Given the description of an element on the screen output the (x, y) to click on. 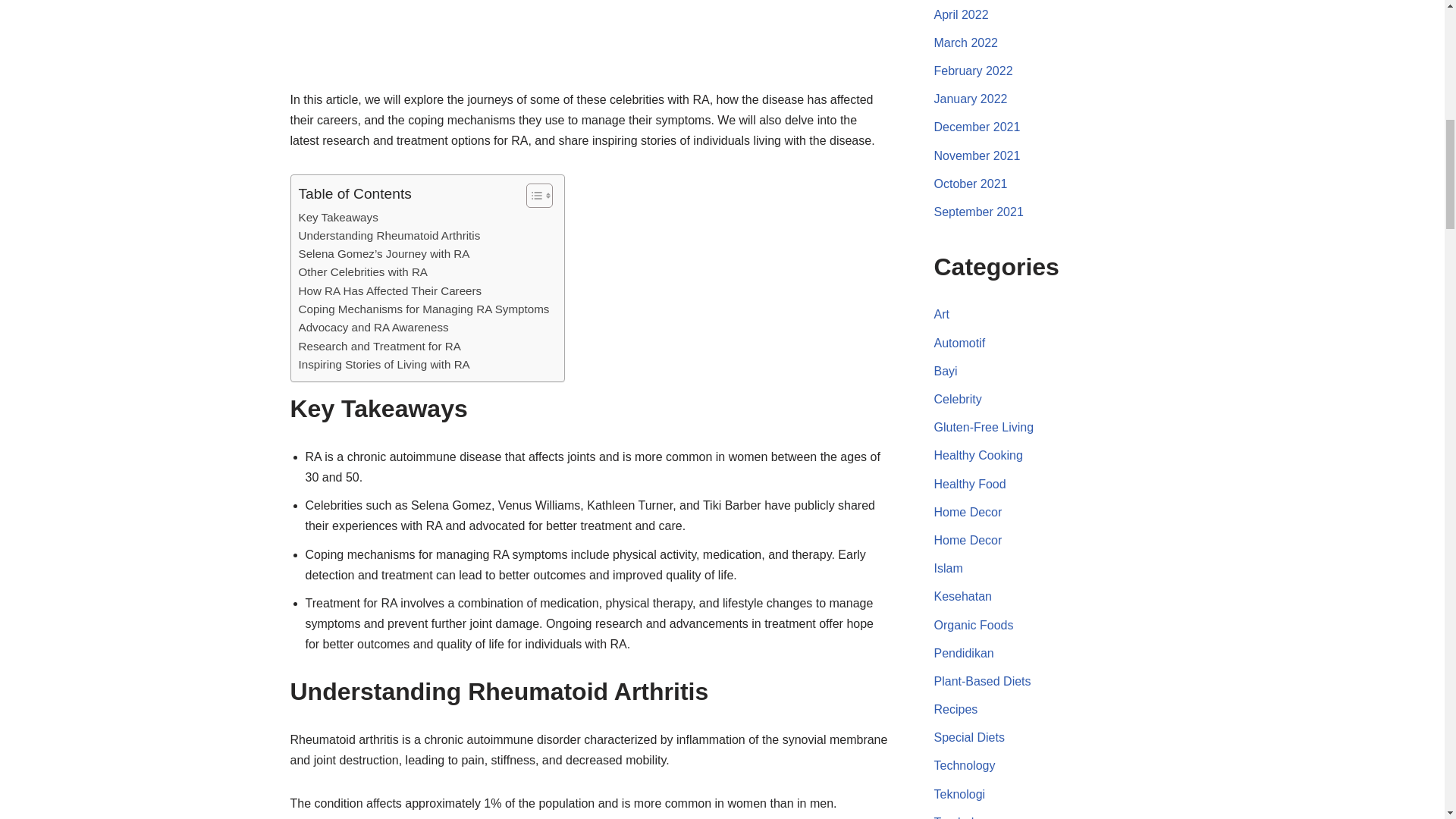
Understanding Rheumatoid Arthritis (389, 235)
Inspiring Stories of Living with RA (384, 364)
Coping Mechanisms for Managing RA Symptoms (424, 309)
Other Celebrities with RA (363, 271)
How RA Has Affected Their Careers (389, 290)
Understanding Rheumatoid Arthritis (389, 235)
Advertisement (588, 41)
Research and Treatment for RA (379, 346)
Other Celebrities with RA (363, 271)
Key Takeaways (338, 217)
